Given the description of an element on the screen output the (x, y) to click on. 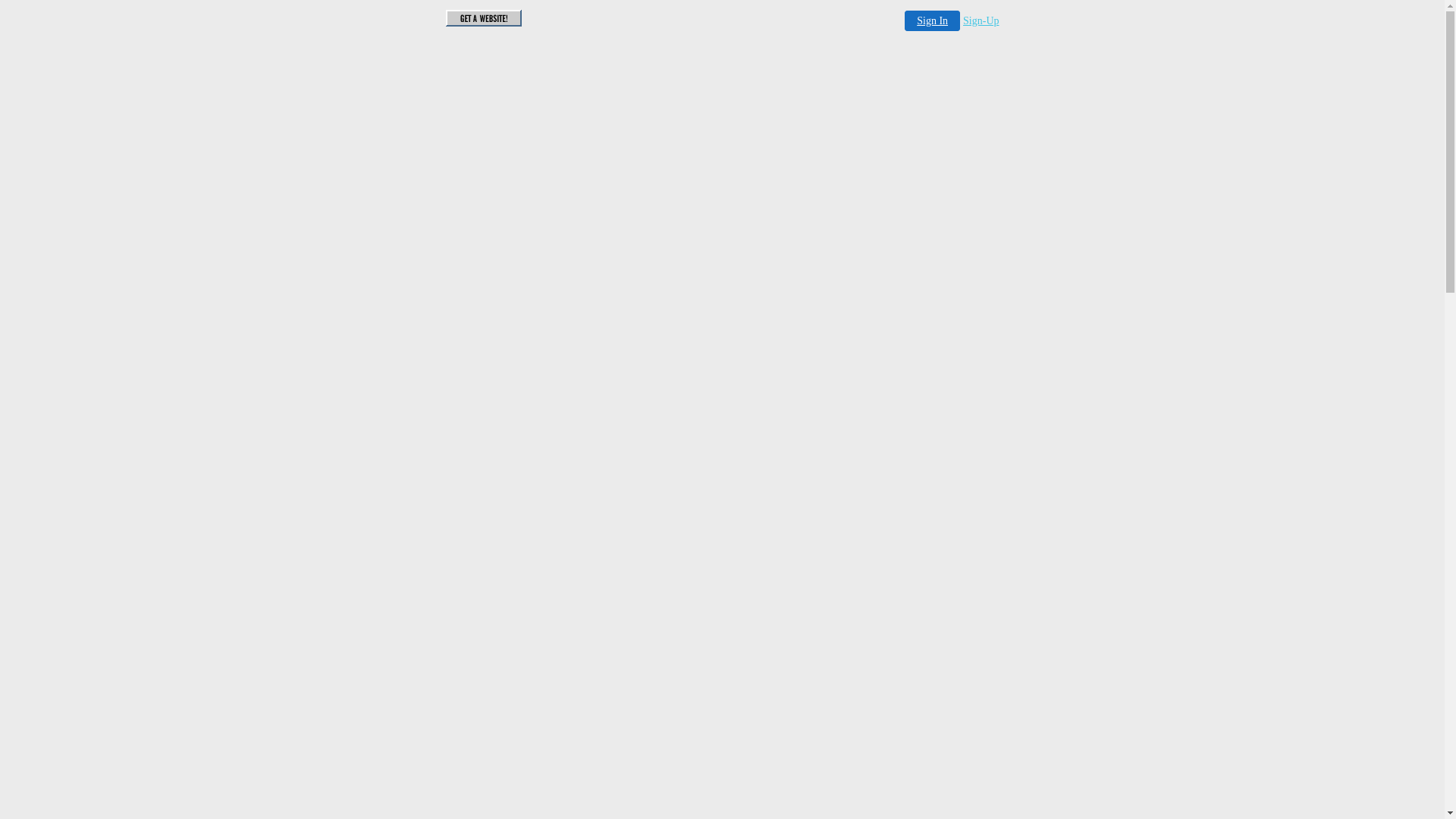
Sign-Up Element type: text (980, 20)
Sign In Element type: text (932, 20)
